Given the description of an element on the screen output the (x, y) to click on. 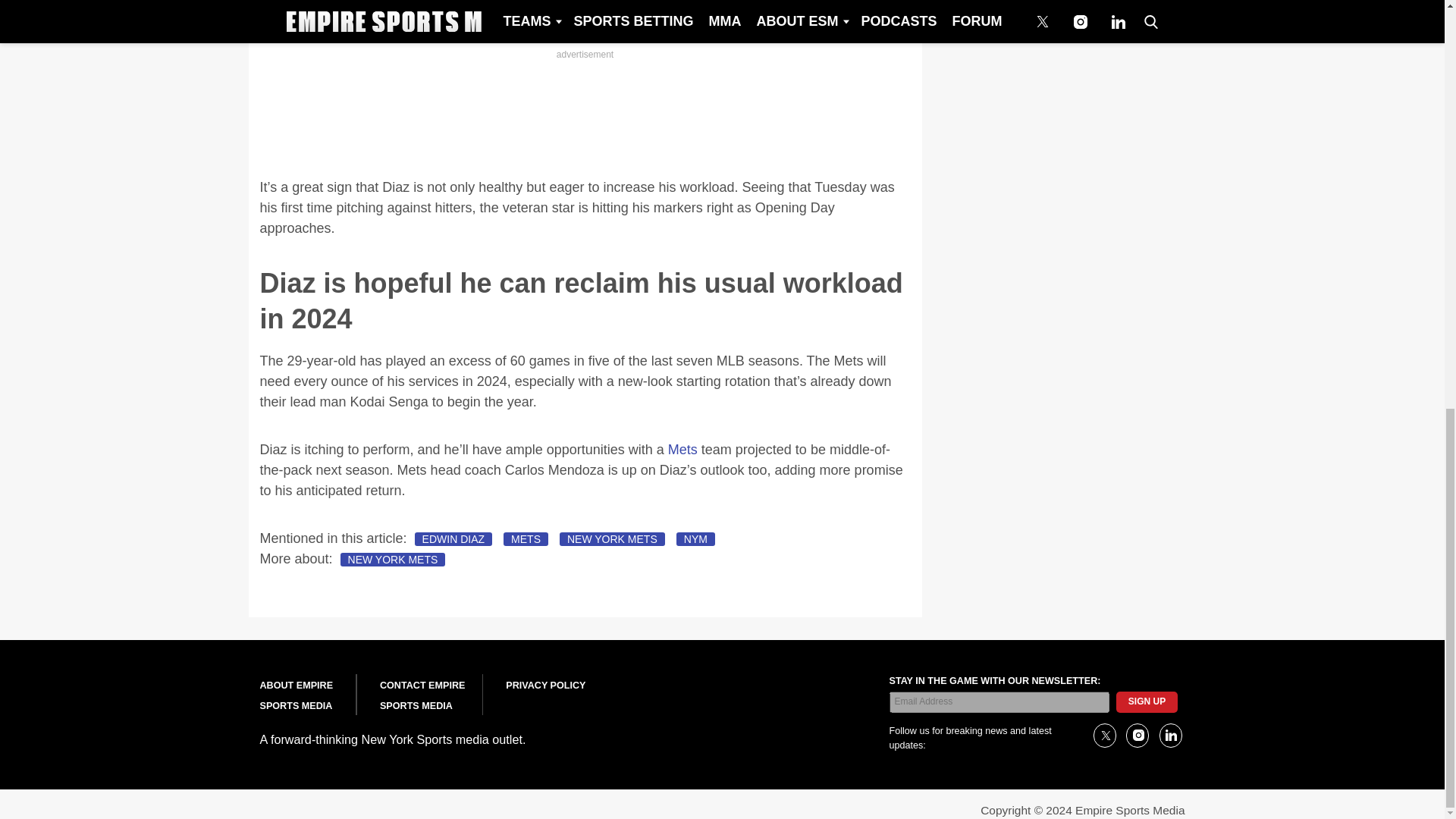
METS (525, 539)
Follow us on Instagram (1136, 735)
NEW YORK METS (392, 559)
Mets (682, 449)
ABOUT EMPIRE SPORTS MEDIA (296, 695)
EDWIN DIAZ (453, 539)
NEW YORK METS (612, 539)
NYM (695, 539)
Connect with us on LinkedIn (1169, 735)
Follow us on Twitter (1104, 735)
